Given the description of an element on the screen output the (x, y) to click on. 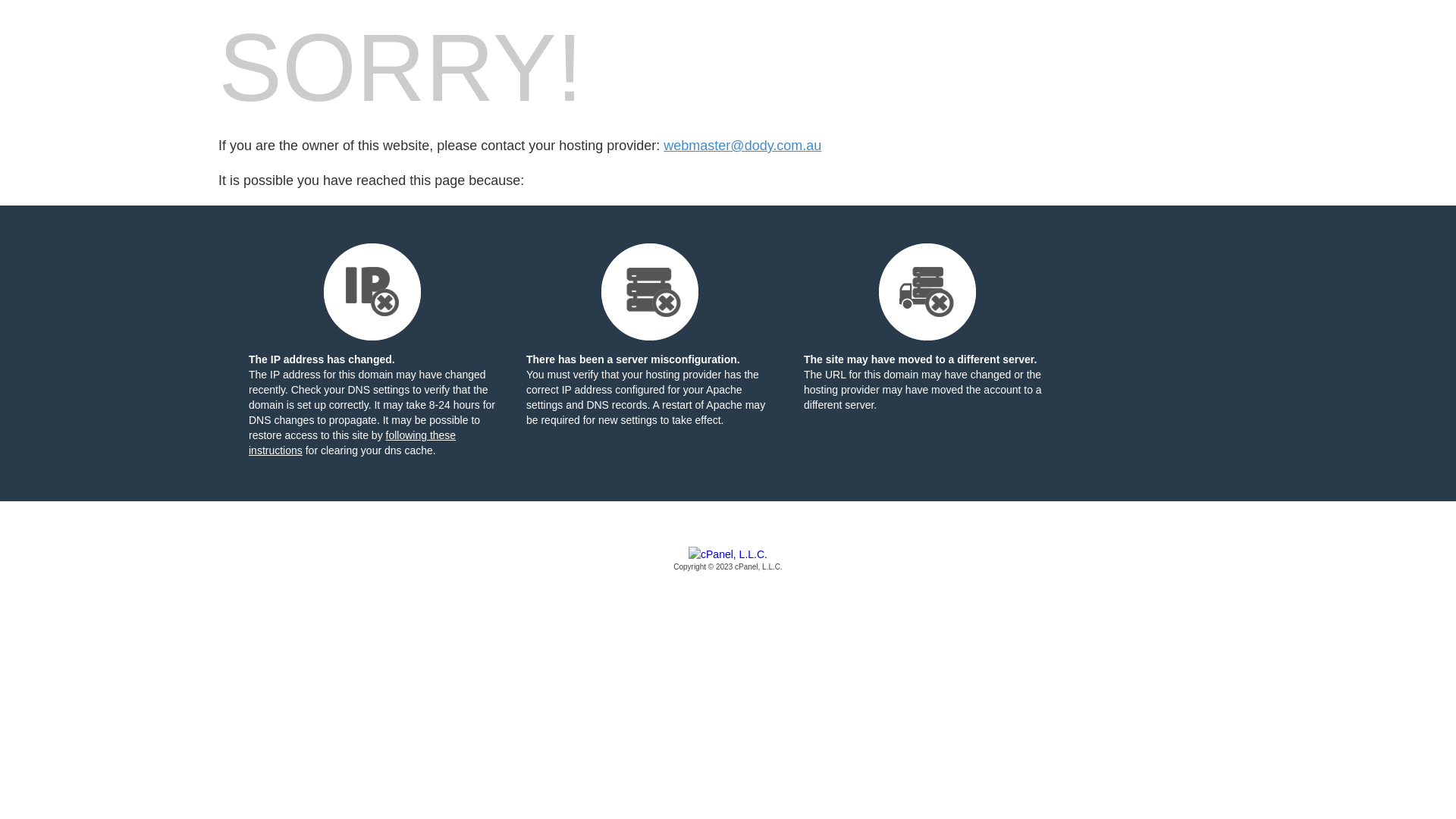
webmaster@dody.com.au Element type: text (742, 145)
following these instructions Element type: text (351, 442)
